Given the description of an element on the screen output the (x, y) to click on. 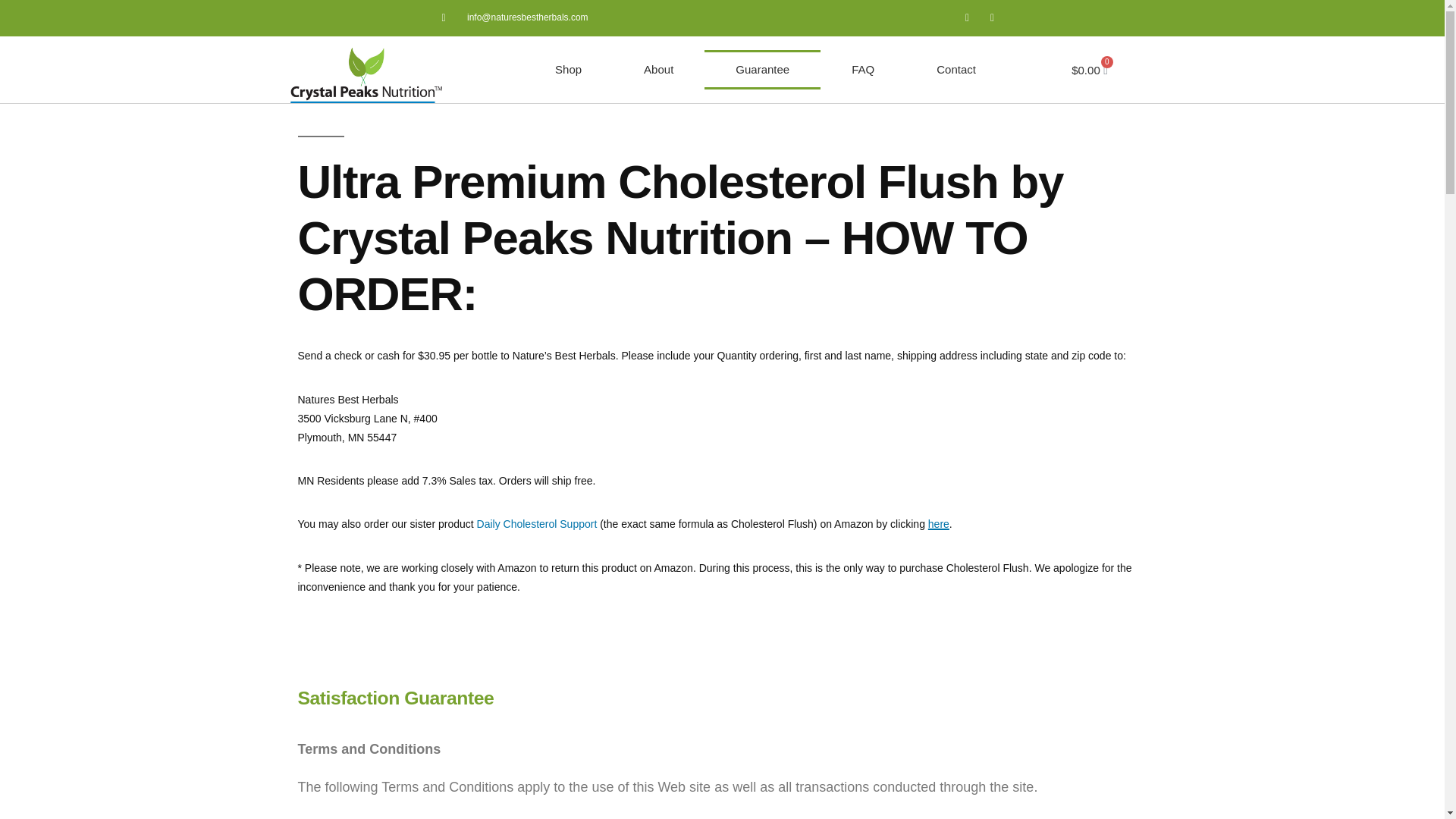
FAQ (863, 69)
Daily Cholesterol Support (536, 523)
About (658, 69)
Contact (956, 69)
Guarantee (762, 69)
Shop (568, 69)
here (938, 523)
